Given the description of an element on the screen output the (x, y) to click on. 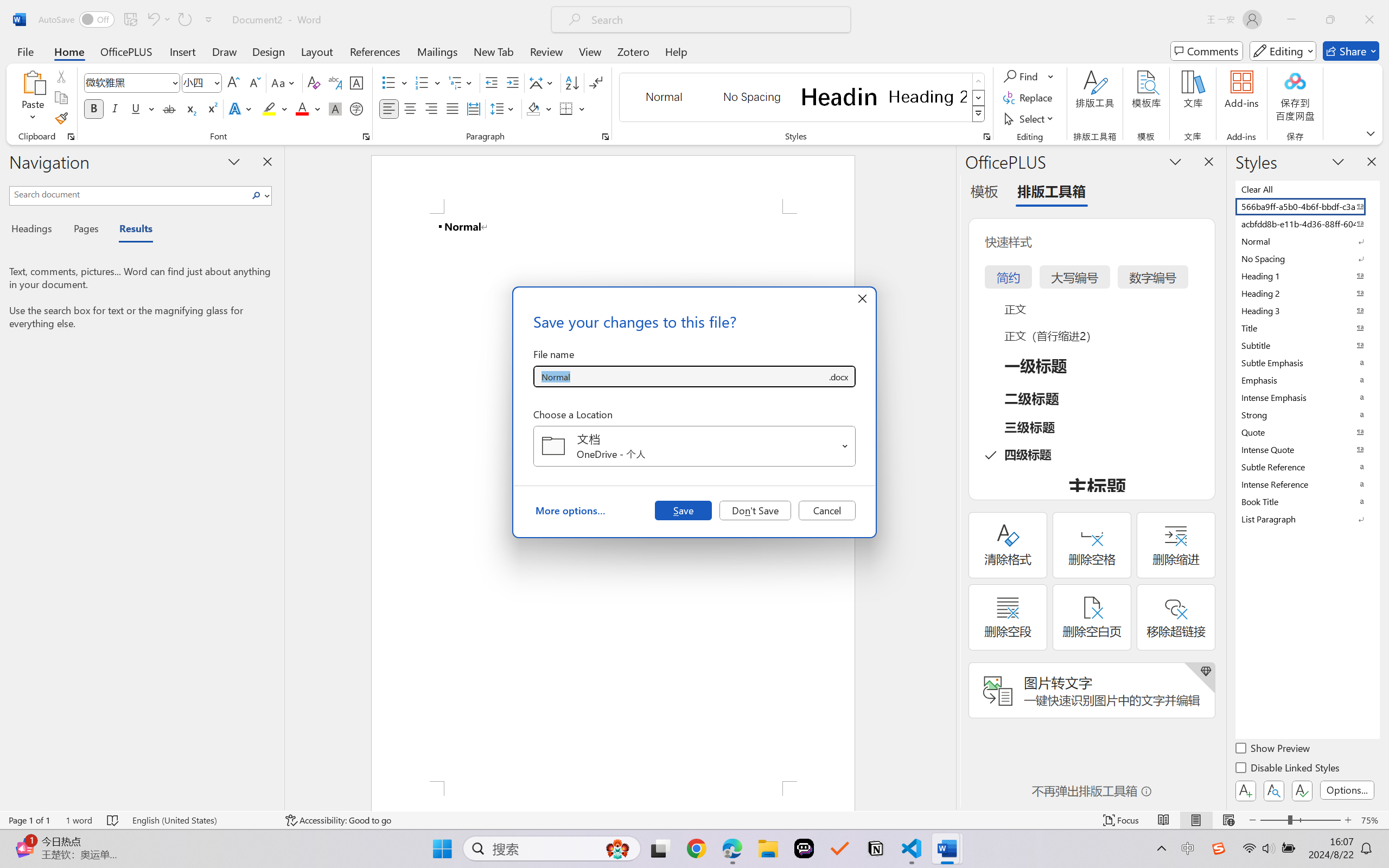
Show/Hide Editing Marks (595, 82)
Strikethrough (169, 108)
Bullets (395, 82)
Results (130, 229)
Underline (142, 108)
Help (675, 51)
Increase Indent (512, 82)
Mailings (437, 51)
Text Highlight Color Yellow (269, 108)
